Given the description of an element on the screen output the (x, y) to click on. 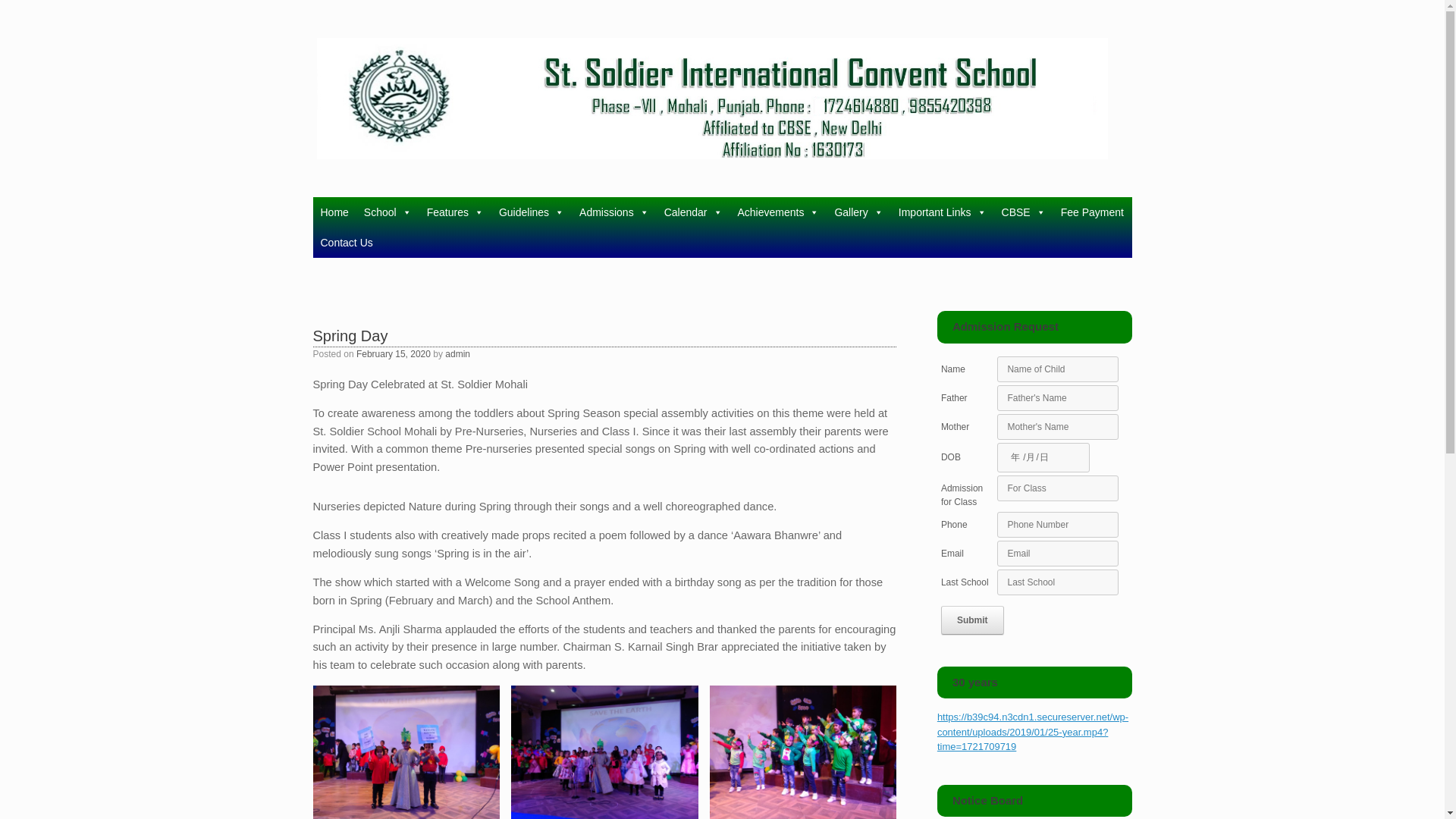
Home (334, 212)
School (387, 212)
View all posts by admin (457, 353)
Guidelines (532, 212)
St. Soldier International Convent School (712, 98)
Admissions (614, 212)
Submit (972, 619)
Calendar (693, 212)
9:12 am (393, 353)
Features (455, 212)
Achievements (778, 212)
